Given the description of an element on the screen output the (x, y) to click on. 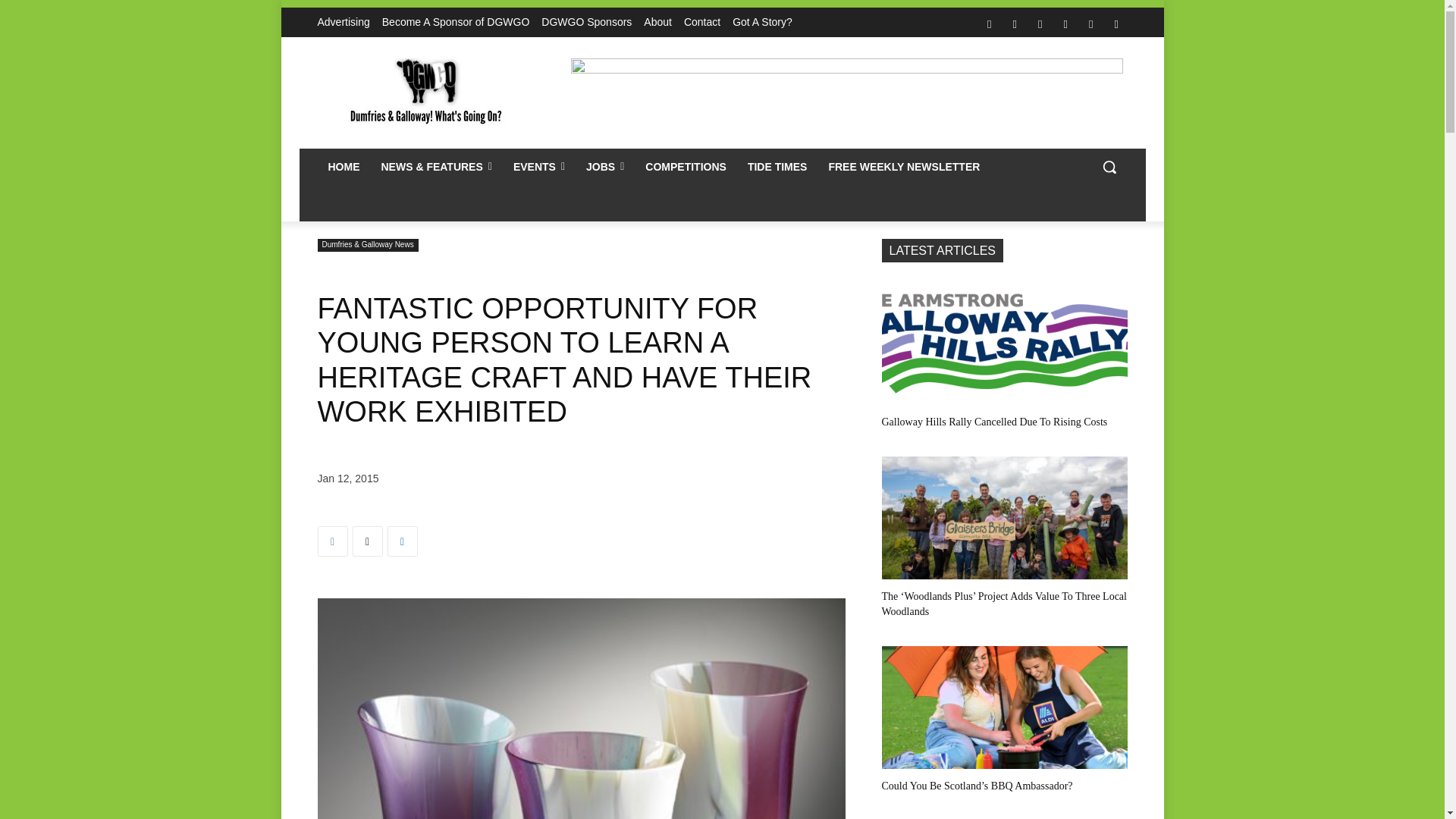
About (657, 21)
Got A Story? (762, 21)
Mail (1040, 24)
Instagram (1015, 24)
Become A Sponsor of DGWGO (455, 21)
TikTok (1065, 24)
Twitter (1091, 24)
DGWGO Sponsors (586, 21)
Youtube (1115, 24)
Contact (702, 21)
Facebook (989, 24)
Advertising (343, 21)
